Given the description of an element on the screen output the (x, y) to click on. 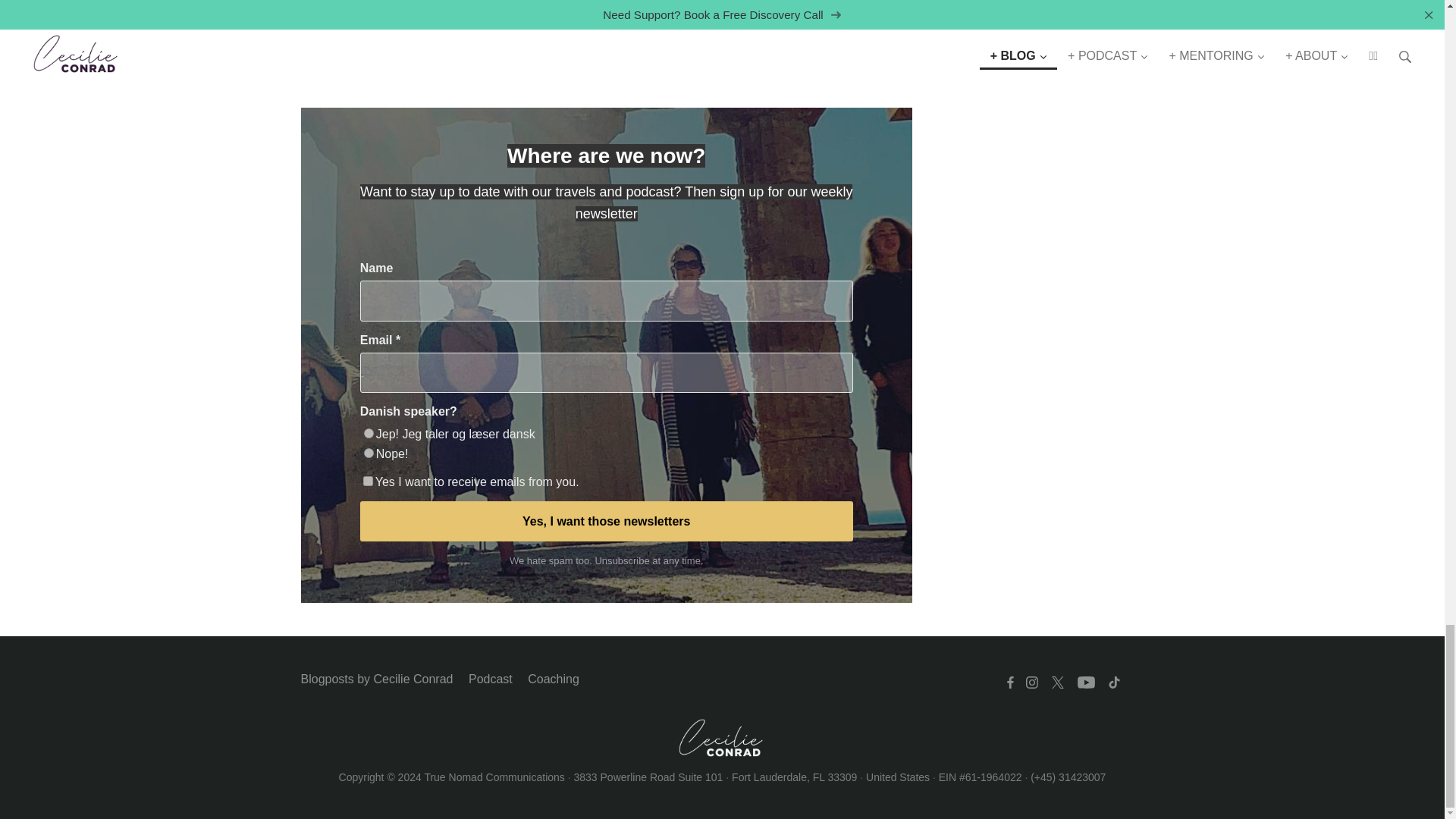
Tiktok (1113, 681)
37456 (369, 452)
X (1056, 681)
1 (367, 480)
YouTube (1085, 681)
Instagram (1031, 681)
Yes, I want those newsletters (606, 521)
37455 (369, 433)
